Given the description of an element on the screen output the (x, y) to click on. 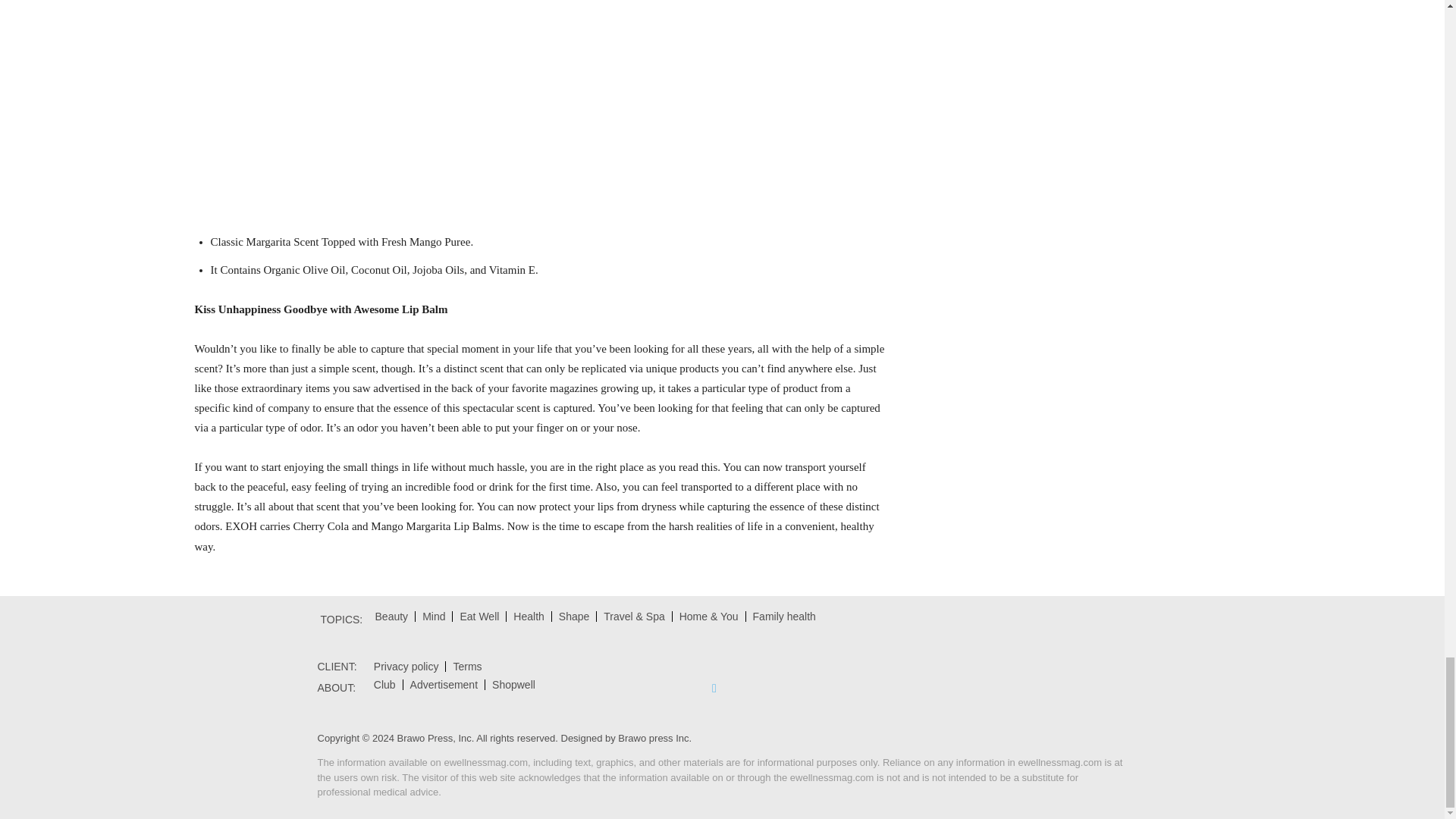
Facebook (713, 688)
Beauty (391, 615)
Mind (432, 615)
uroda (391, 615)
